Given the description of an element on the screen output the (x, y) to click on. 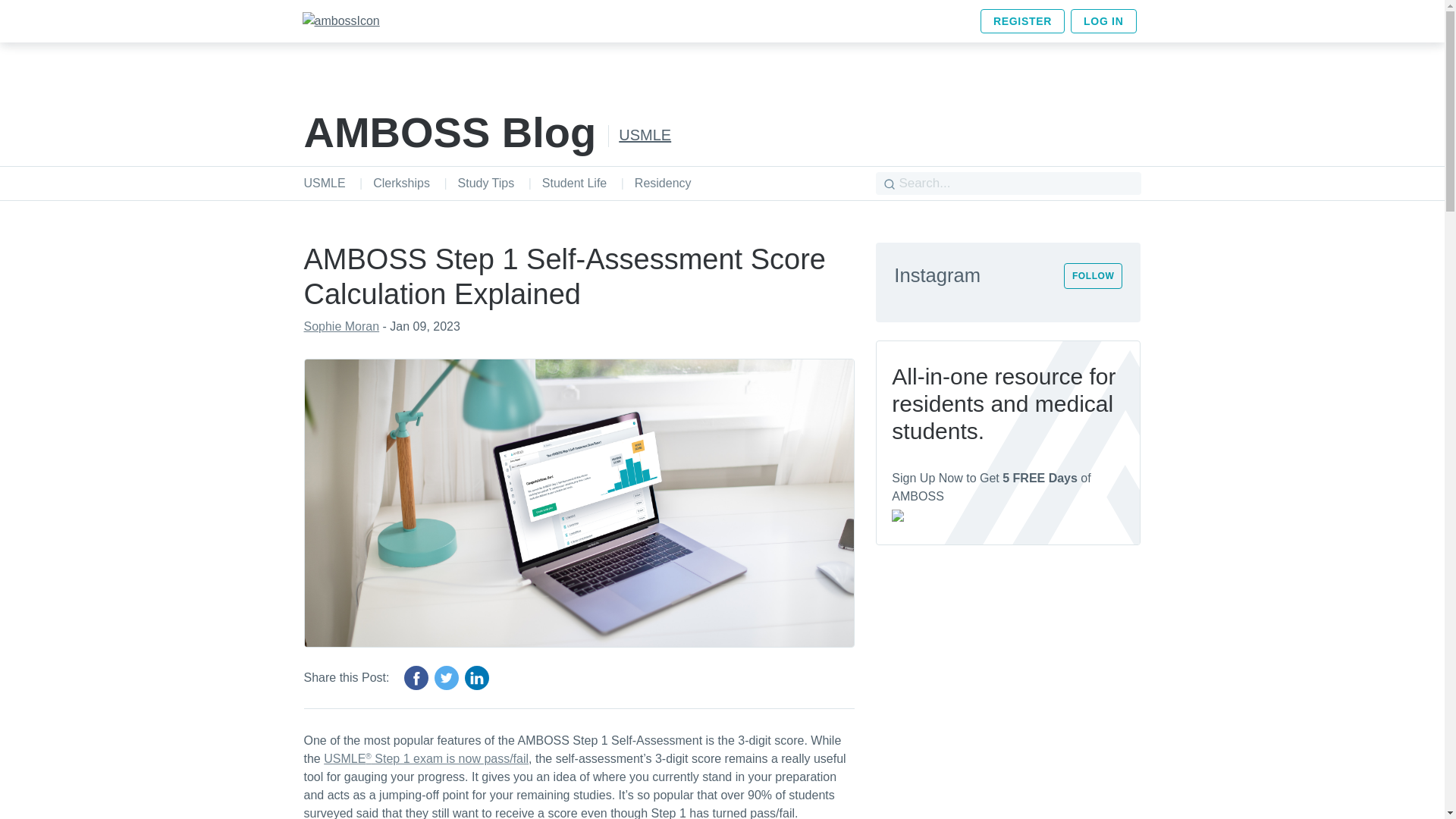
Residency (662, 182)
FOLLOW (1093, 275)
Clerkships (400, 182)
REGISTER (1021, 21)
USMLE (644, 134)
Student Life (574, 182)
Amboss Icon (339, 21)
Study Tips (486, 182)
AMBOSS Blog (448, 132)
Sophie Moran (340, 326)
